Given the description of an element on the screen output the (x, y) to click on. 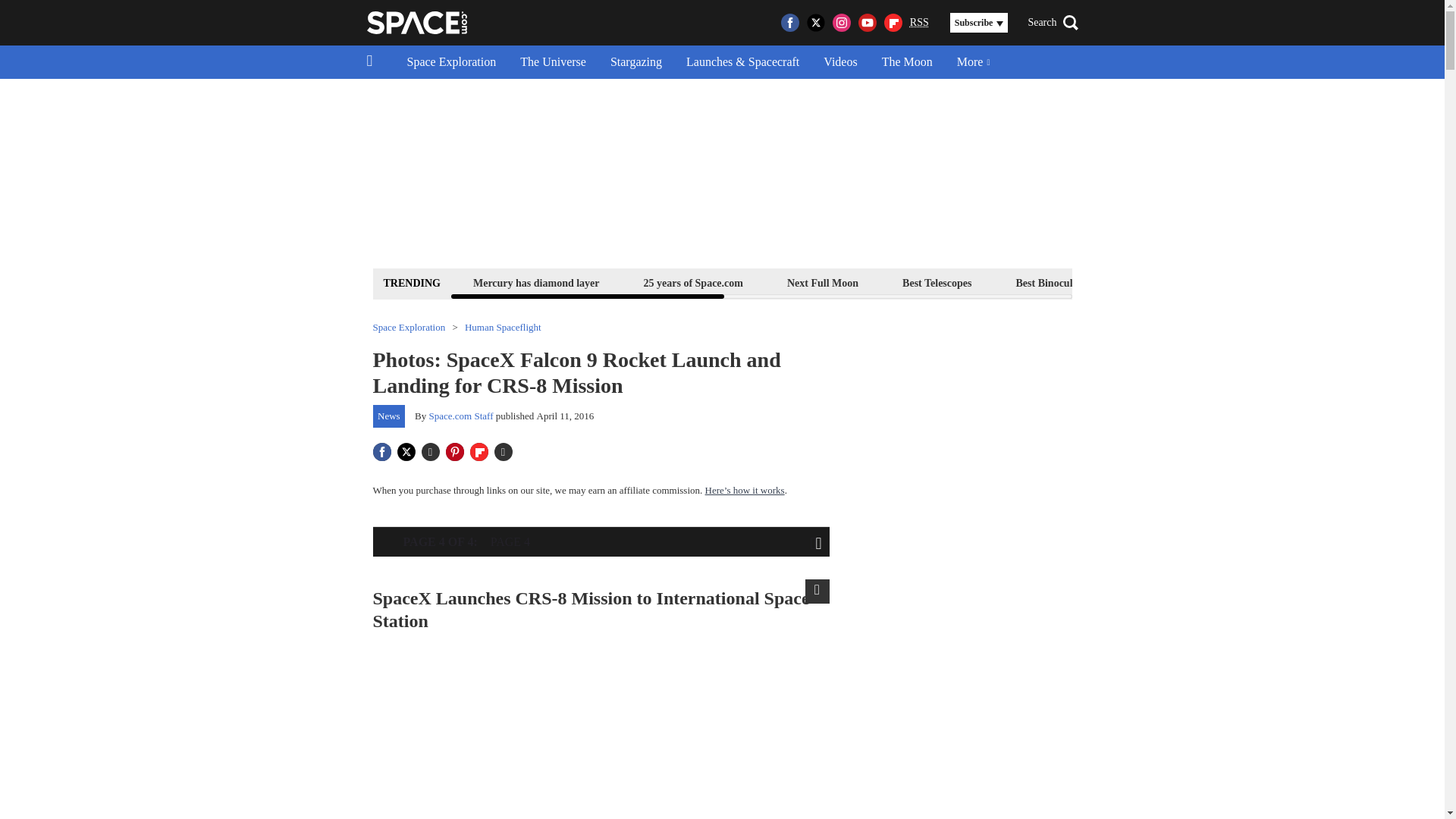
Mercury has diamond layer (536, 282)
The Universe (553, 61)
Best Telescopes (936, 282)
Really Simple Syndication (919, 21)
The Moon (906, 61)
Stargazing (636, 61)
Space Calendar (1301, 282)
25 years of Space.com (693, 282)
Next Full Moon (822, 282)
Videos (839, 61)
Best Star Projectors (1176, 282)
Space Exploration (451, 61)
RSS (919, 22)
Best Binoculars (1051, 282)
